Given the description of an element on the screen output the (x, y) to click on. 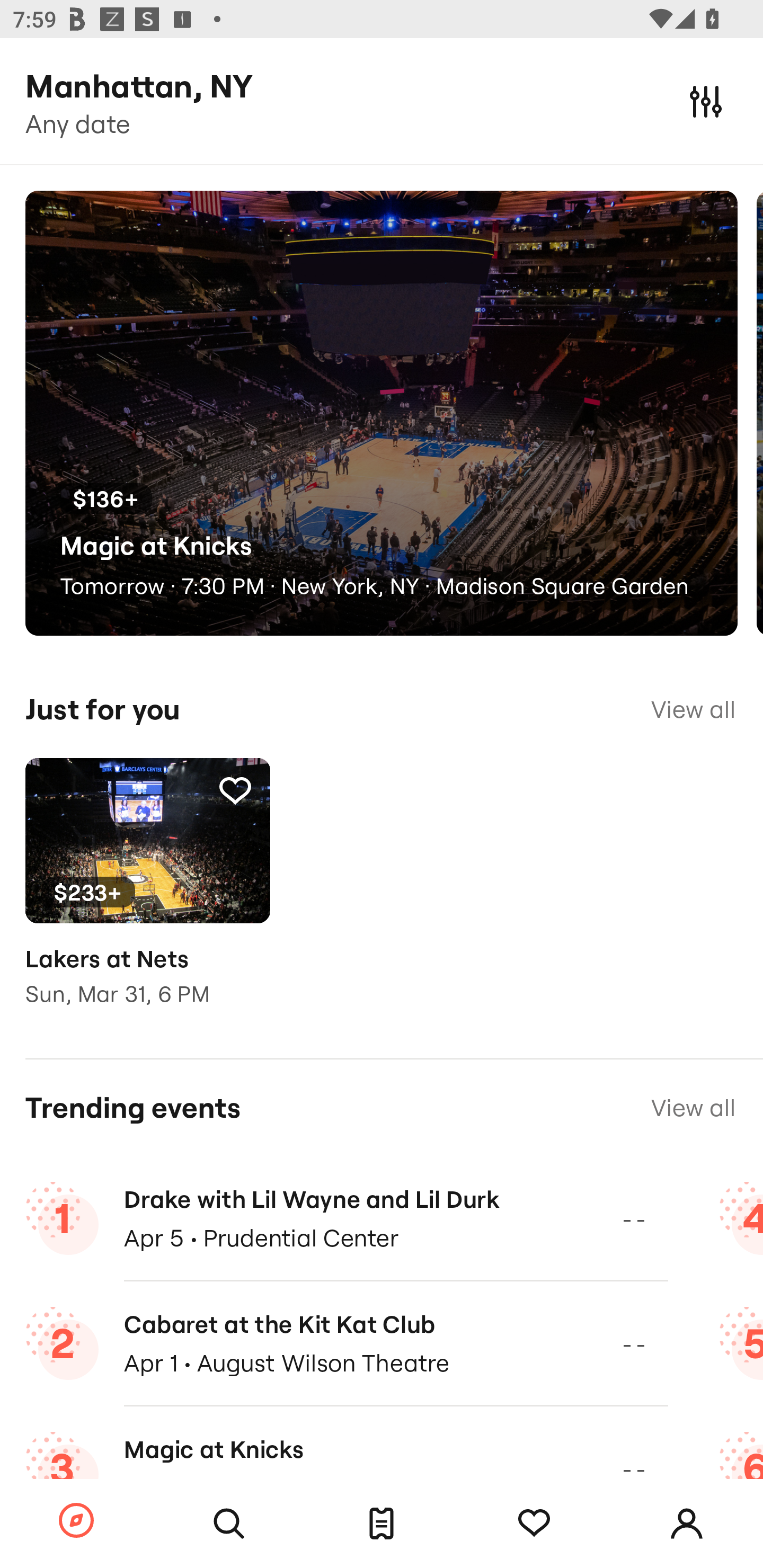
Filters (705, 100)
View all (693, 709)
Tracking $233+ Lakers at Nets Sun, Mar 31, 6 PM (147, 895)
Tracking (234, 790)
View all (693, 1108)
Browse (76, 1521)
Search (228, 1523)
Tickets (381, 1523)
Tracking (533, 1523)
Account (686, 1523)
